Given the description of an element on the screen output the (x, y) to click on. 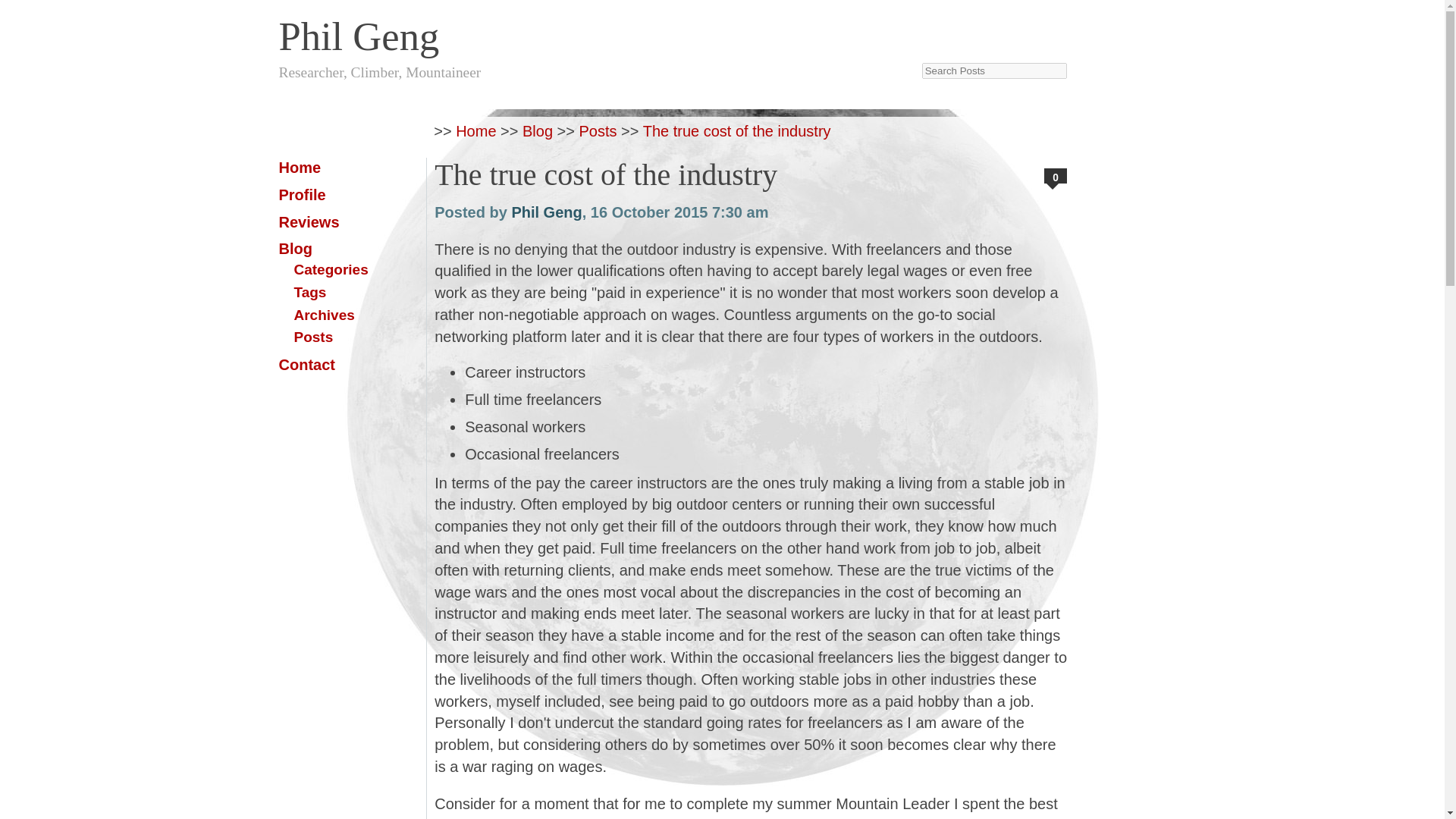
Posts (313, 336)
Tags (310, 292)
Archives (324, 314)
Reviews (309, 221)
No comments yet (1055, 175)
Phil Geng (596, 31)
The true cost of the industry (605, 174)
Posts (598, 130)
The true cost of the industry (737, 130)
Home (300, 167)
